Given the description of an element on the screen output the (x, y) to click on. 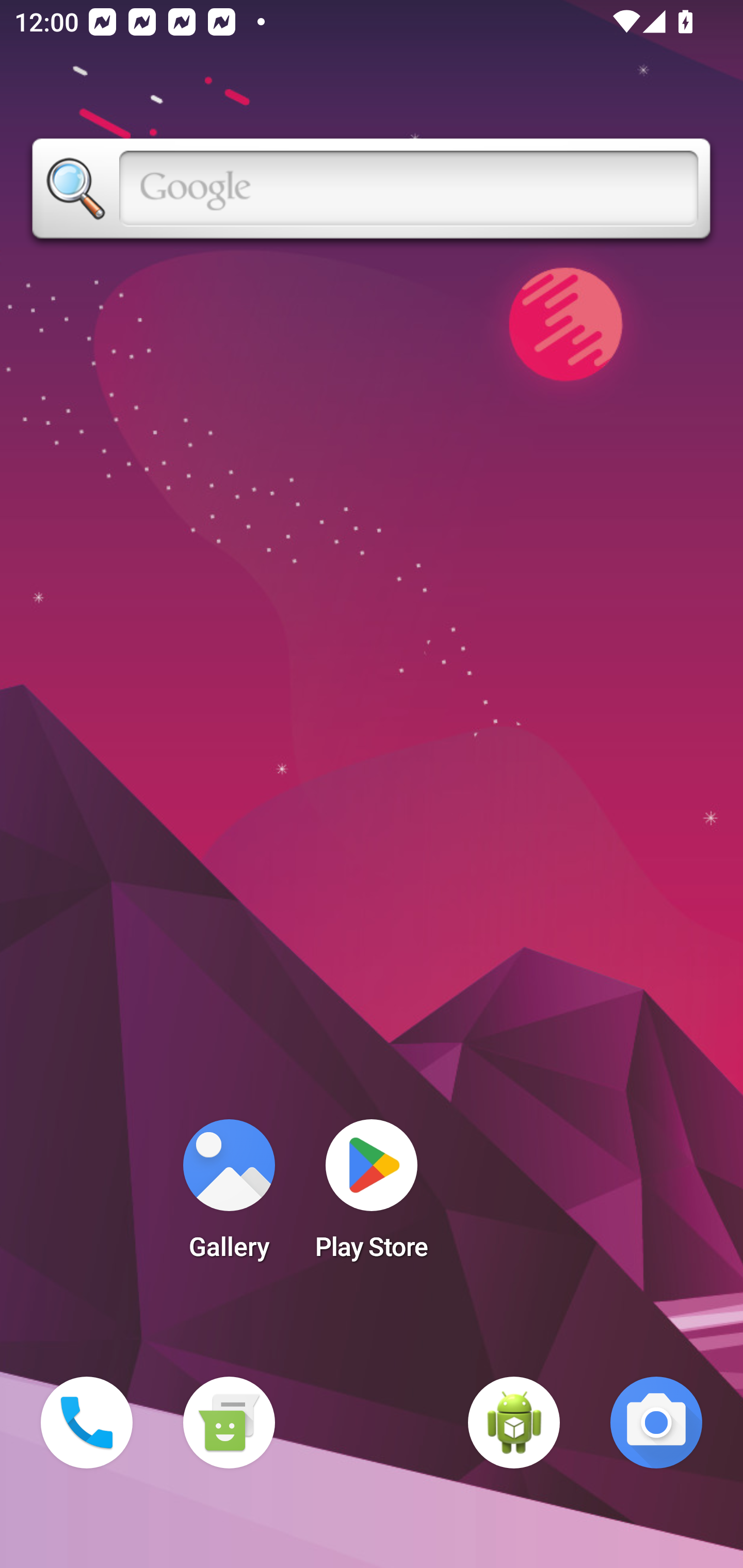
Gallery (228, 1195)
Play Store (371, 1195)
Phone (86, 1422)
Messaging (228, 1422)
WebView Browser Tester (513, 1422)
Camera (656, 1422)
